Given the description of an element on the screen output the (x, y) to click on. 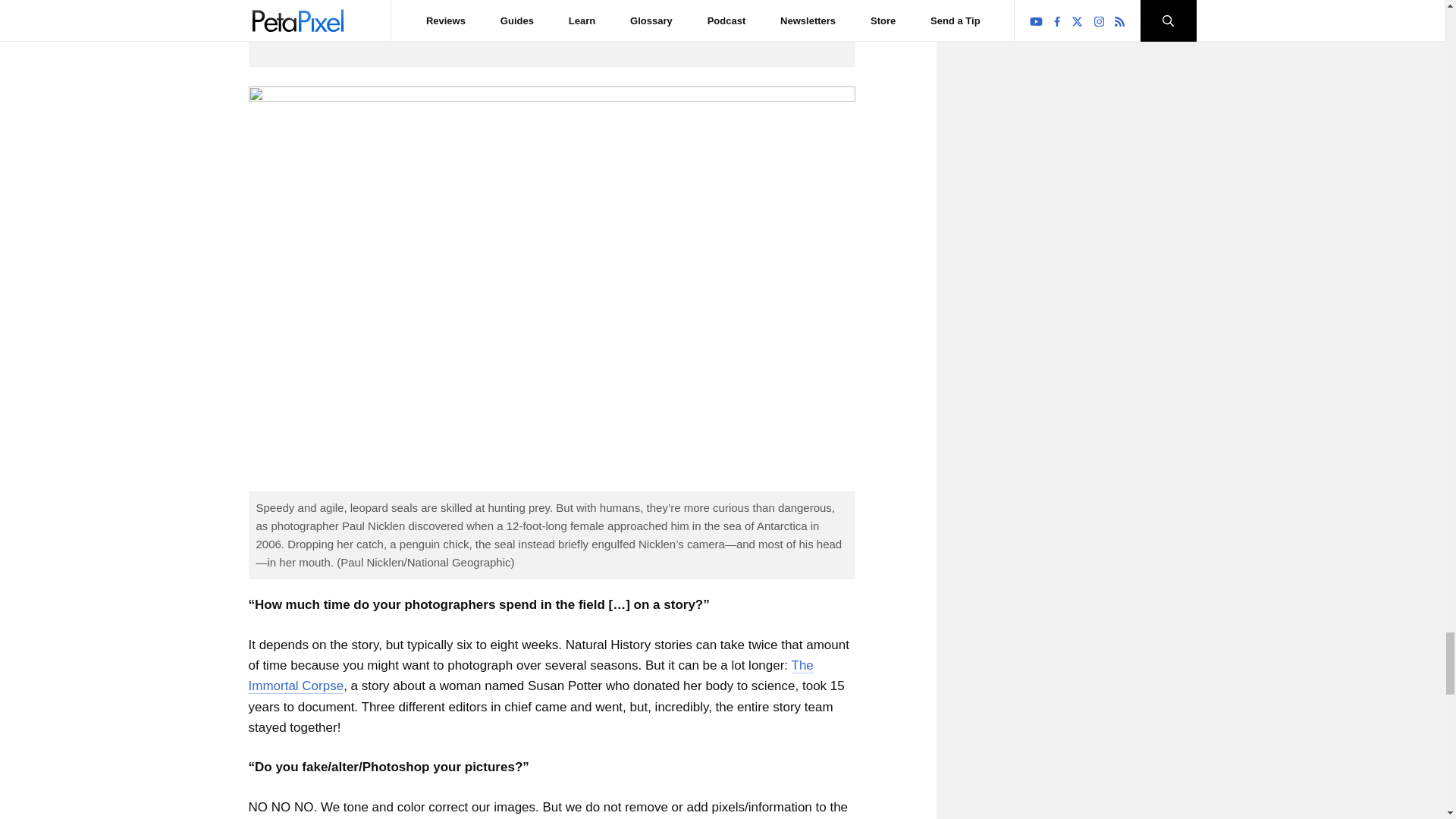
The Immortal Corpse (530, 675)
